Given the description of an element on the screen output the (x, y) to click on. 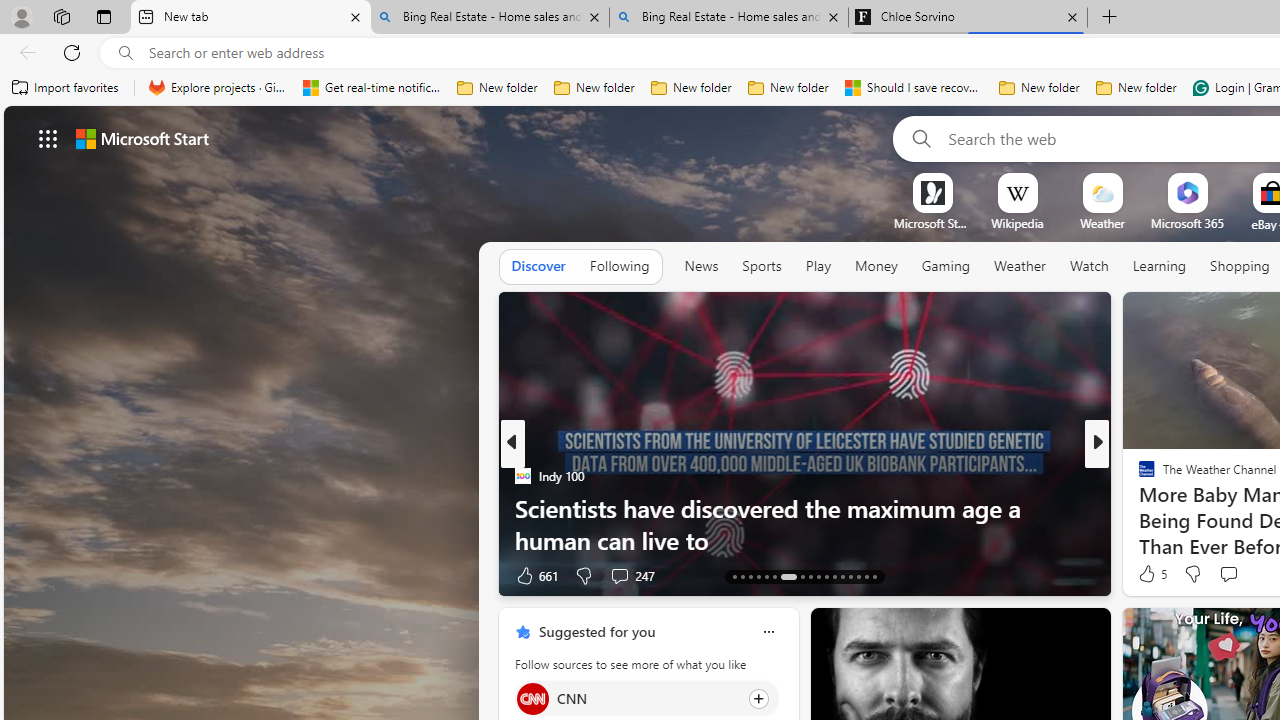
AutomationID: tab-42 (874, 576)
View comments 19 Comment (1244, 574)
269 Like (1151, 574)
AutomationID: tab-19 (788, 576)
AutomationID: tab-14 (742, 576)
View comments 5 Comment (1241, 574)
